Given the description of an element on the screen output the (x, y) to click on. 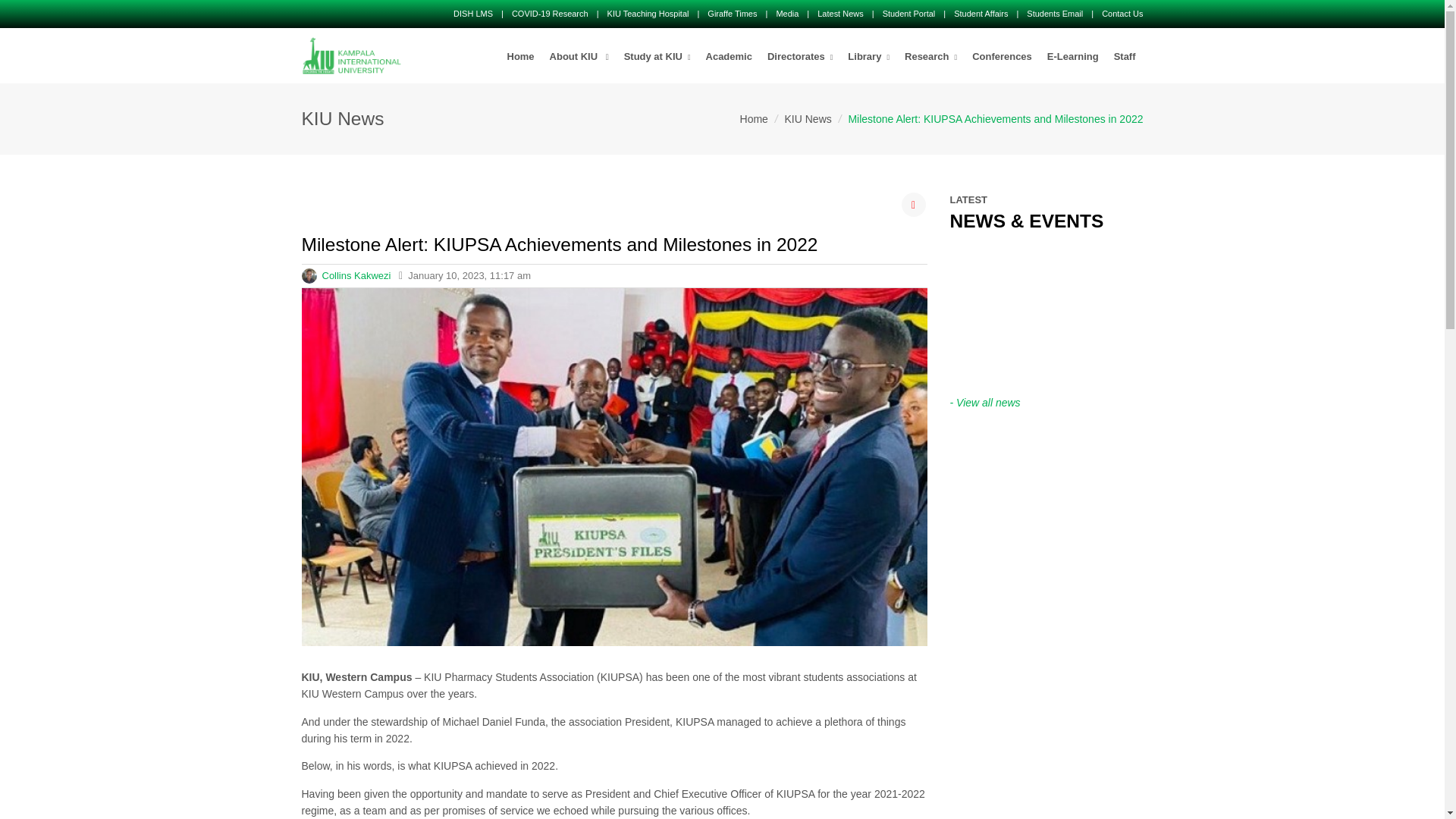
Giraffe Times (732, 13)
Home (520, 57)
DISH LMS (472, 13)
Academic (729, 57)
KIU Teaching Hospital (647, 13)
Latest News (839, 13)
Study at KIU (657, 57)
About KIU (579, 57)
Media (786, 13)
Student Affairs (980, 13)
Contact Us (1122, 13)
Student Portal (909, 13)
Directorates (799, 57)
Students Email (1054, 13)
COVID-19 Research (550, 13)
